Given the description of an element on the screen output the (x, y) to click on. 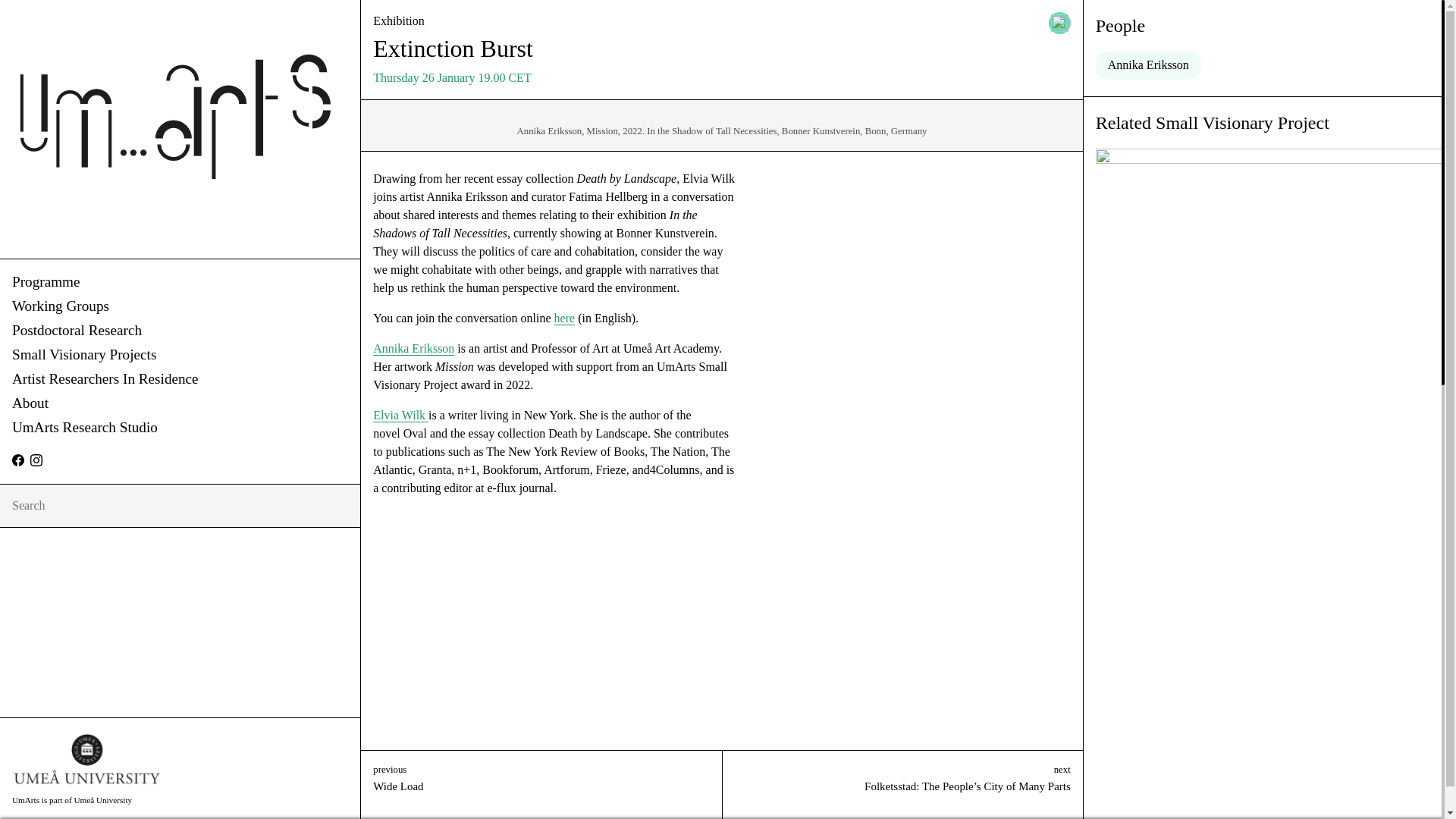
Annika Eriksson (1148, 65)
Small Visionary Projects (179, 354)
UmArts Research Studio (179, 427)
Programme (179, 282)
Instagram (36, 460)
Working Groups (179, 306)
Facebook (17, 460)
Elvia Wilk (400, 415)
Postdoctoral Research (179, 331)
About (179, 403)
